Given the description of an element on the screen output the (x, y) to click on. 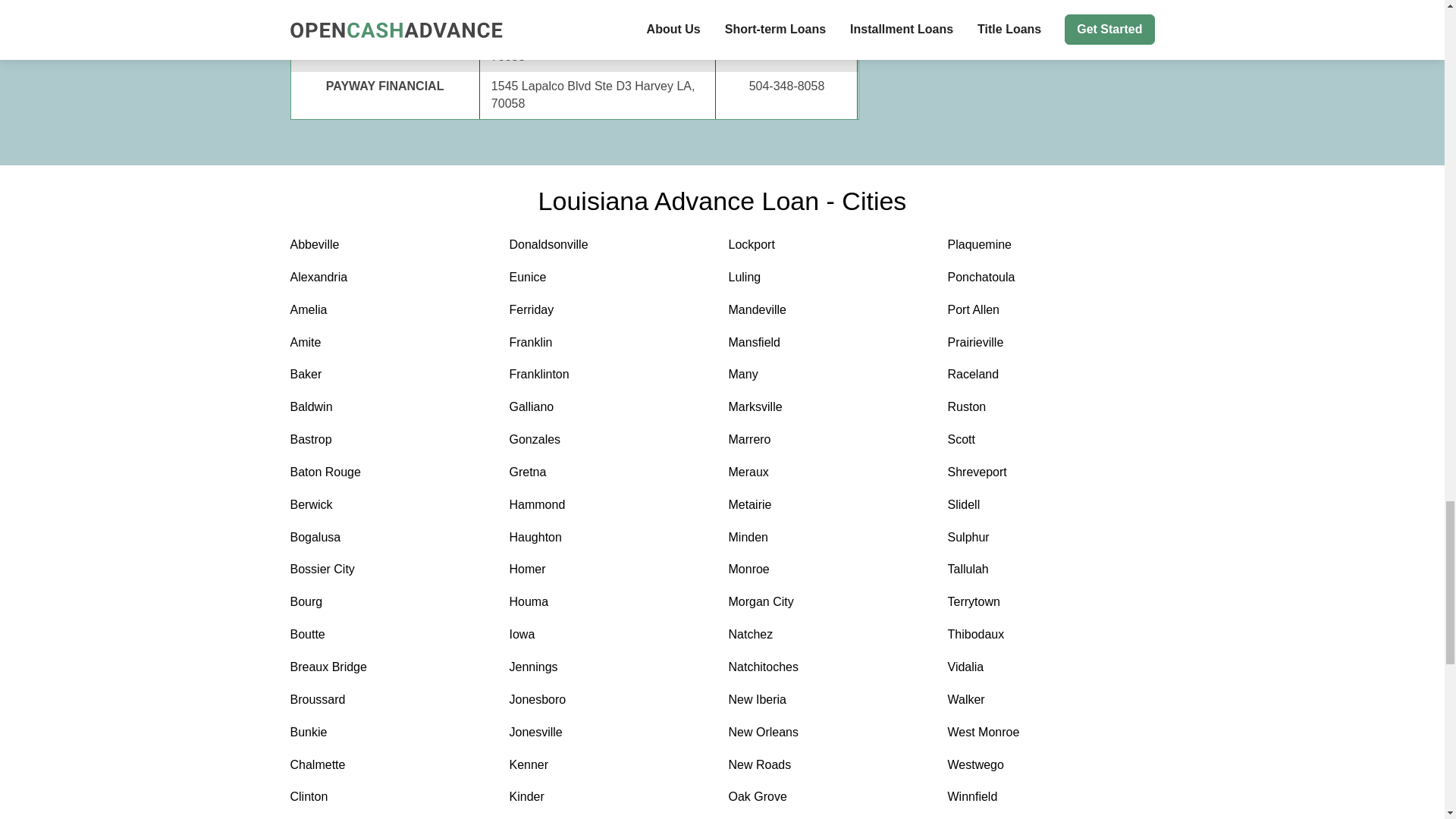
Bossier City (392, 569)
Berwick (392, 505)
Bunkie (392, 732)
Baton Rouge (392, 472)
Baker (392, 375)
Bastrop (392, 439)
Broussard (392, 700)
Alexandria (392, 277)
Bourg (392, 601)
Abbeville (392, 244)
Amite (392, 343)
Bogalusa (392, 538)
Breaux Bridge (392, 667)
Baldwin (392, 407)
Boutte (392, 634)
